Given the description of an element on the screen output the (x, y) to click on. 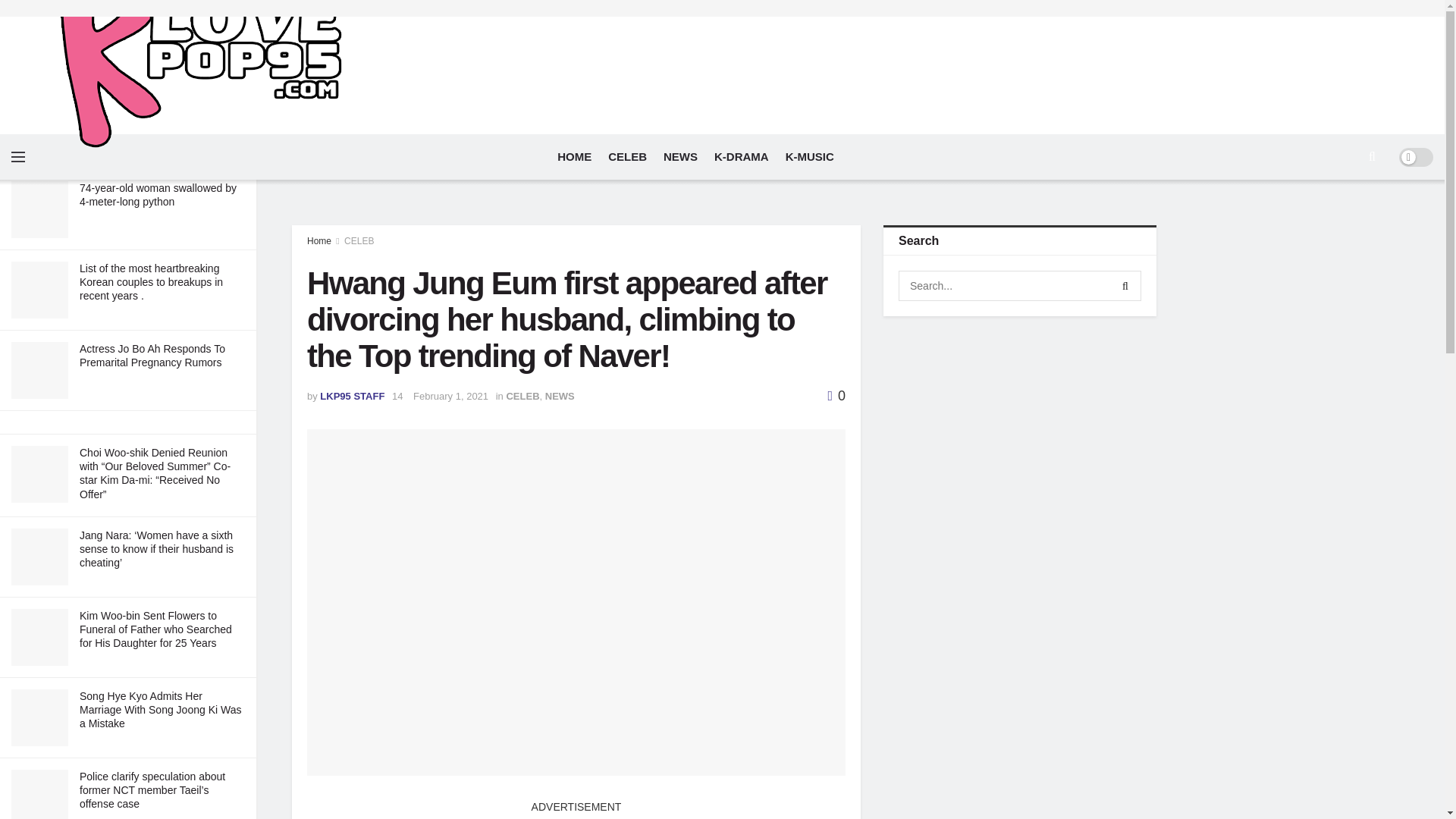
74-year-old woman swallowed by 4-meter-long python (157, 194)
K-MUSIC (810, 156)
Filter (227, 13)
K-DRAMA (741, 156)
Actress Jo Bo Ah Responds To Premarital Pregnancy Rumors (152, 355)
